Given the description of an element on the screen output the (x, y) to click on. 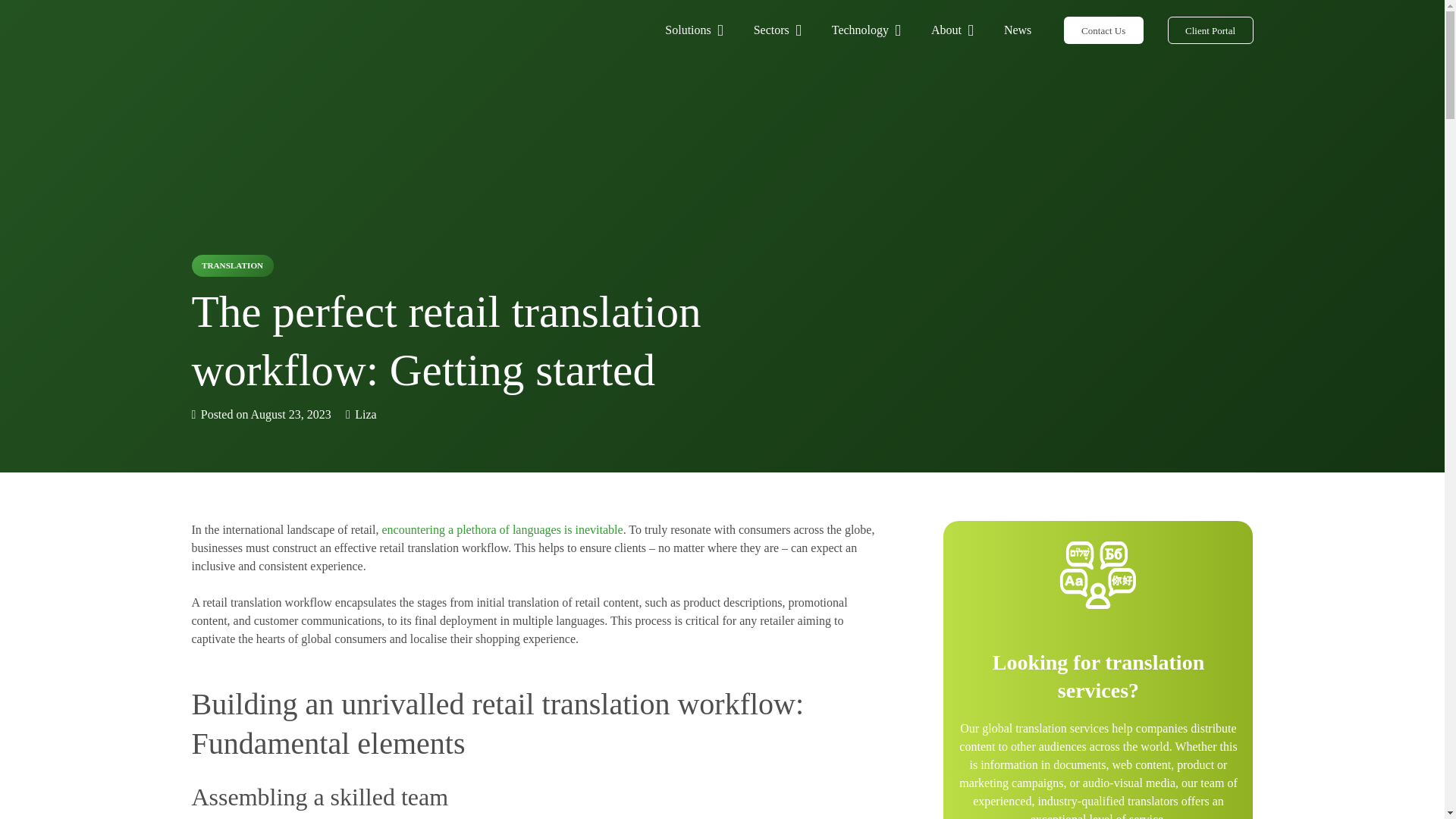
News (1017, 30)
Sectors (777, 30)
23 August 2023 at 08:55:12 UTC (260, 414)
Technology (865, 30)
Contact Us (1103, 30)
About (951, 30)
Solutions (693, 30)
